Given the description of an element on the screen output the (x, y) to click on. 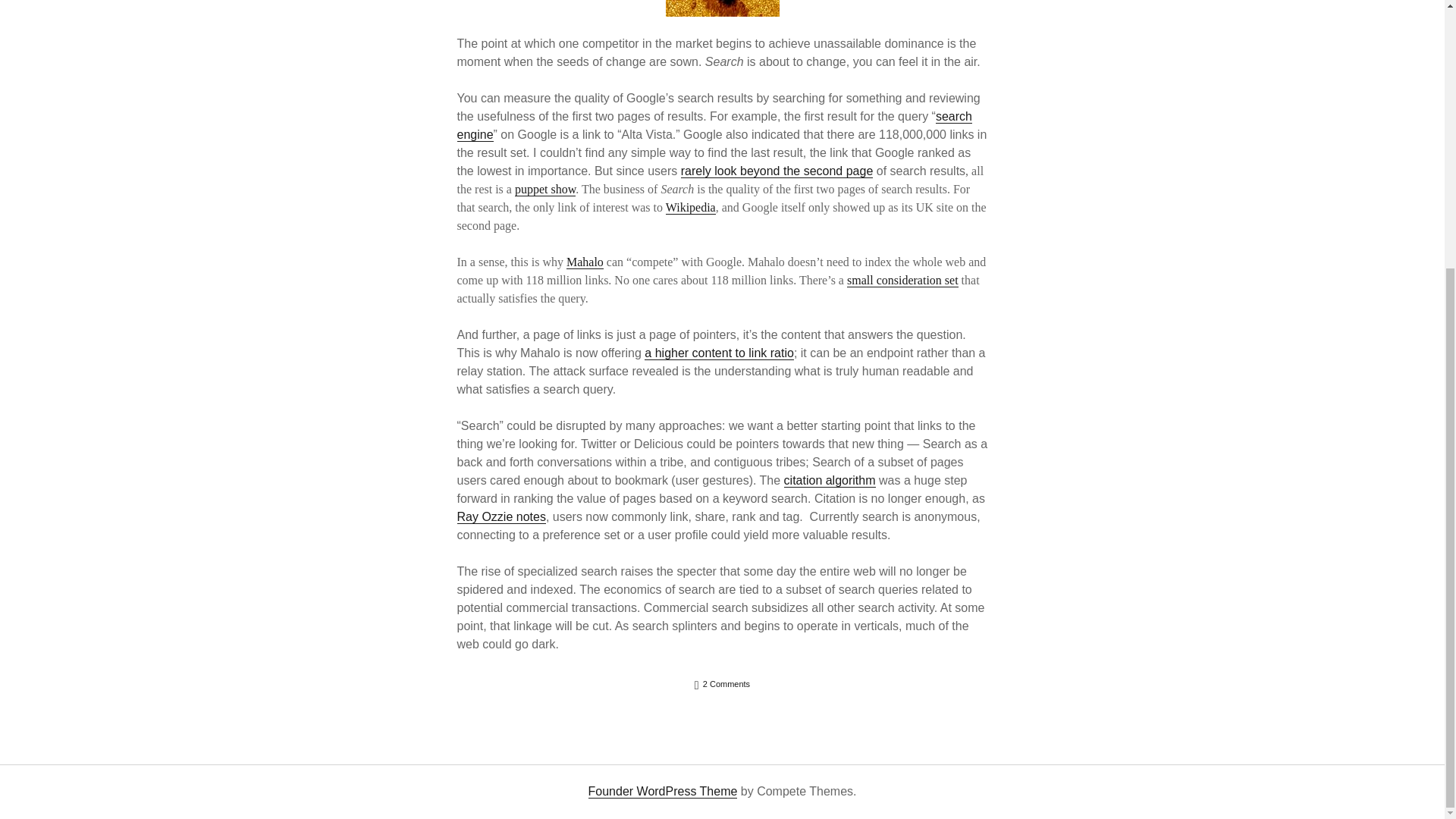
sunspots (721, 8)
